Given the description of an element on the screen output the (x, y) to click on. 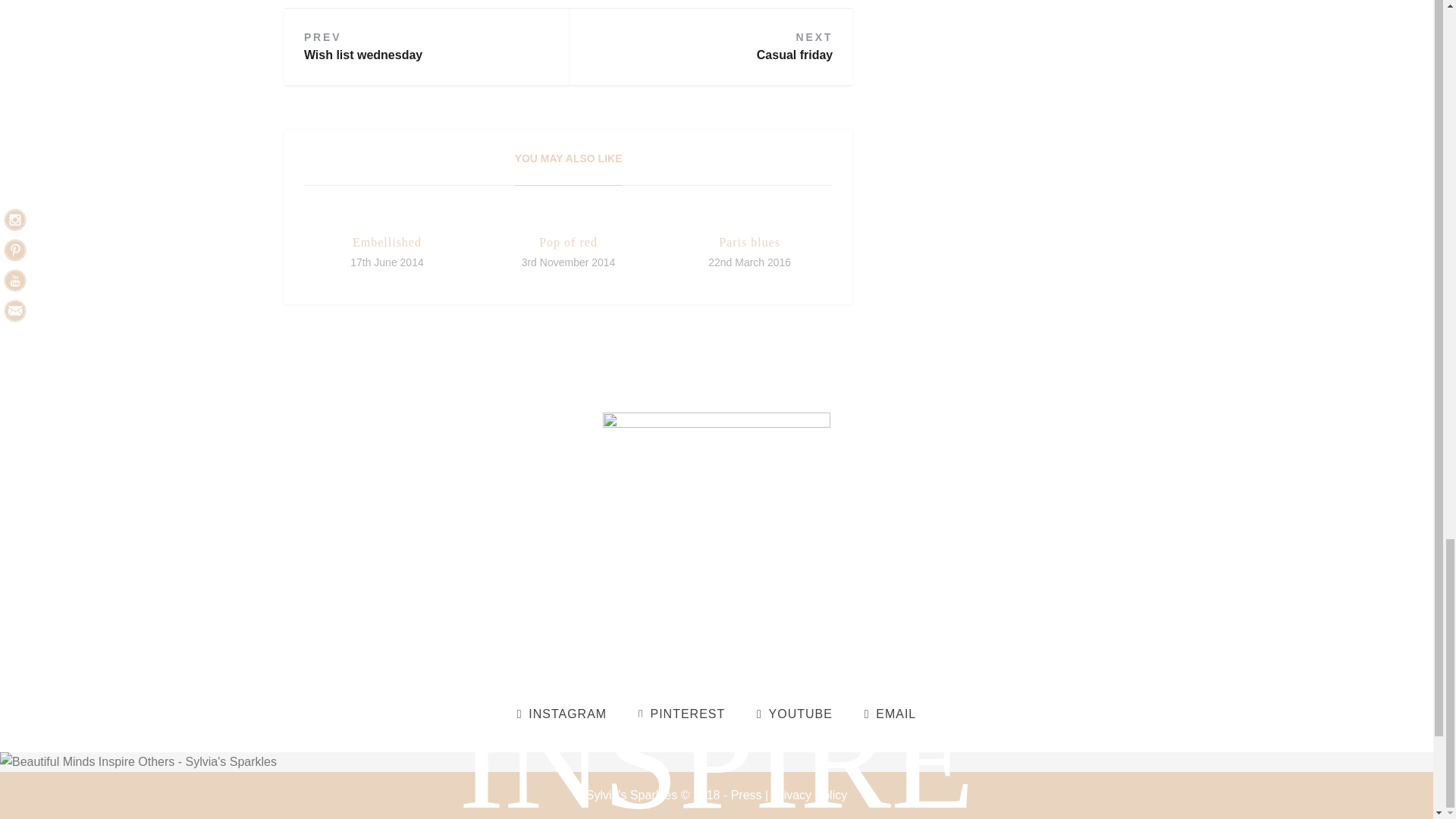
Embellished (387, 241)
Click here for my Privacy Policy page (809, 794)
Paris blues (749, 241)
Pop of red (567, 241)
Click here for my Press page (745, 794)
SS Circular Logo (715, 525)
